Given the description of an element on the screen output the (x, y) to click on. 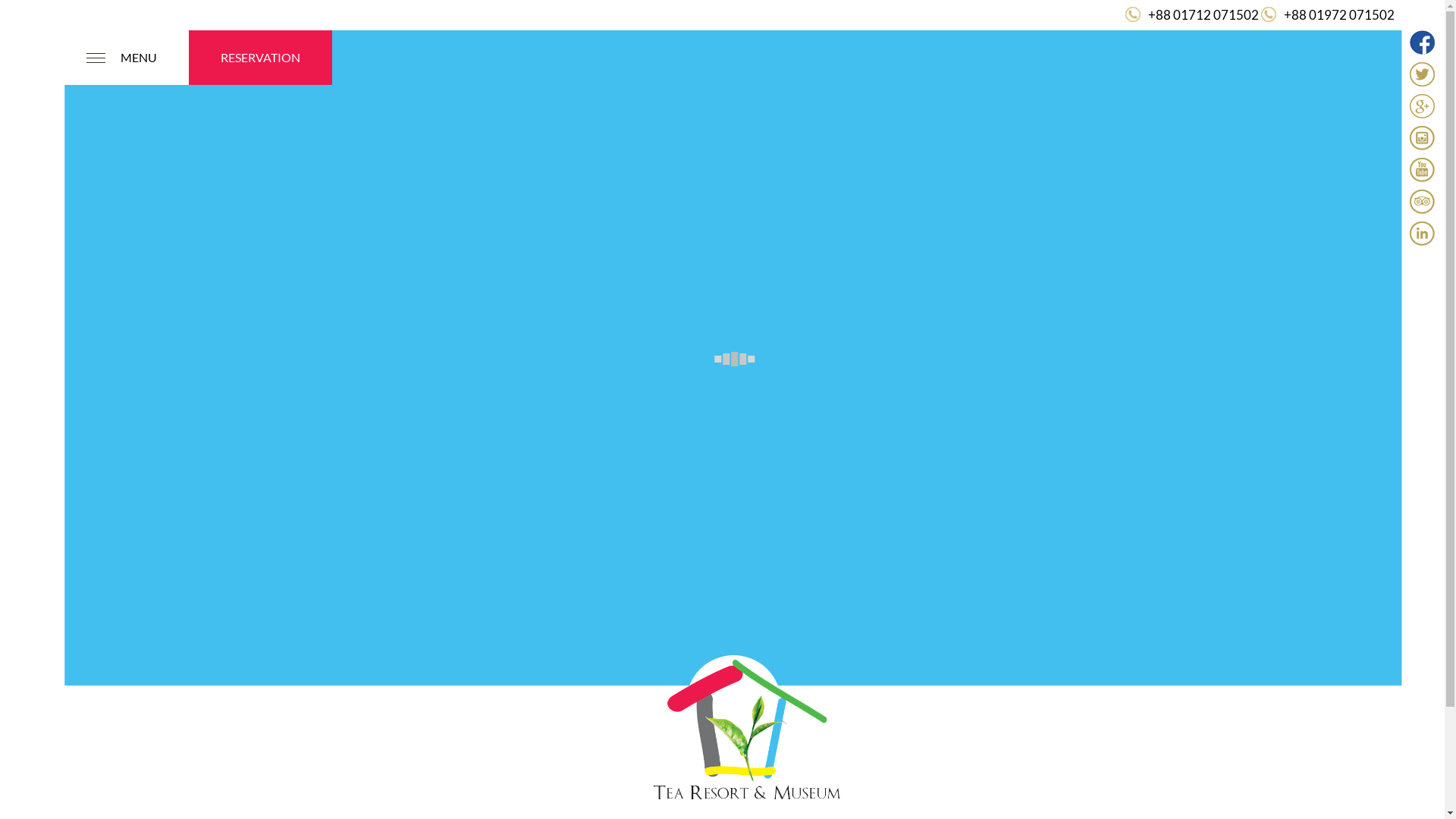
RESERVATION Element type: text (260, 57)
Tea Resort & Museum Element type: text (748, 723)
MENU Element type: text (120, 57)
+88 01712 071502 Element type: text (1203, 14)
+88 01972 071502 Element type: text (1338, 14)
